Given the description of an element on the screen output the (x, y) to click on. 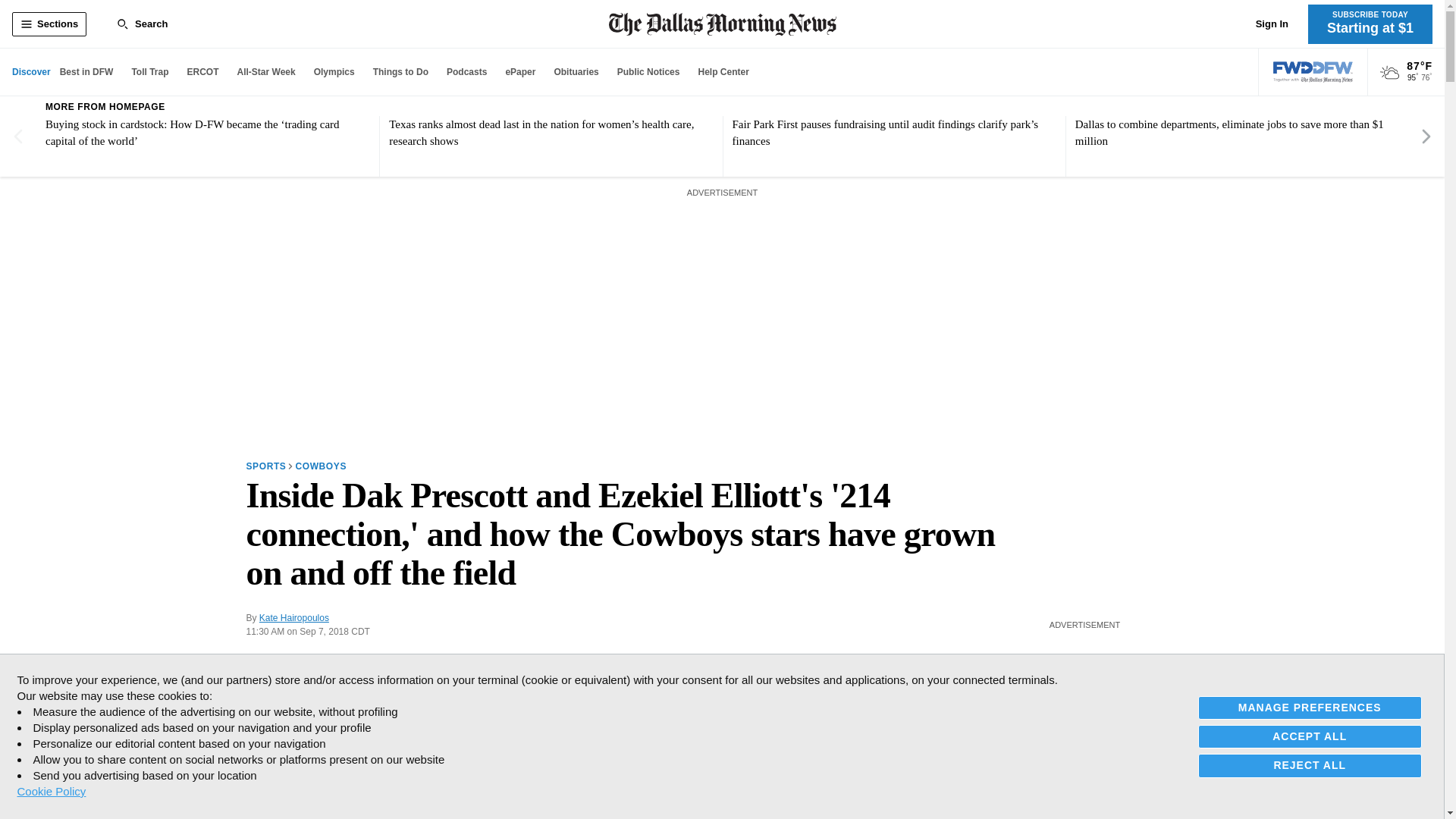
REJECT ALL (1310, 765)
FWD DFW, Together with The Dallas Morning News (1313, 72)
MANAGE PREFERENCES (1310, 707)
Broken clouds (1389, 72)
Cookie Policy (50, 790)
ACCEPT ALL (1310, 736)
